Given the description of an element on the screen output the (x, y) to click on. 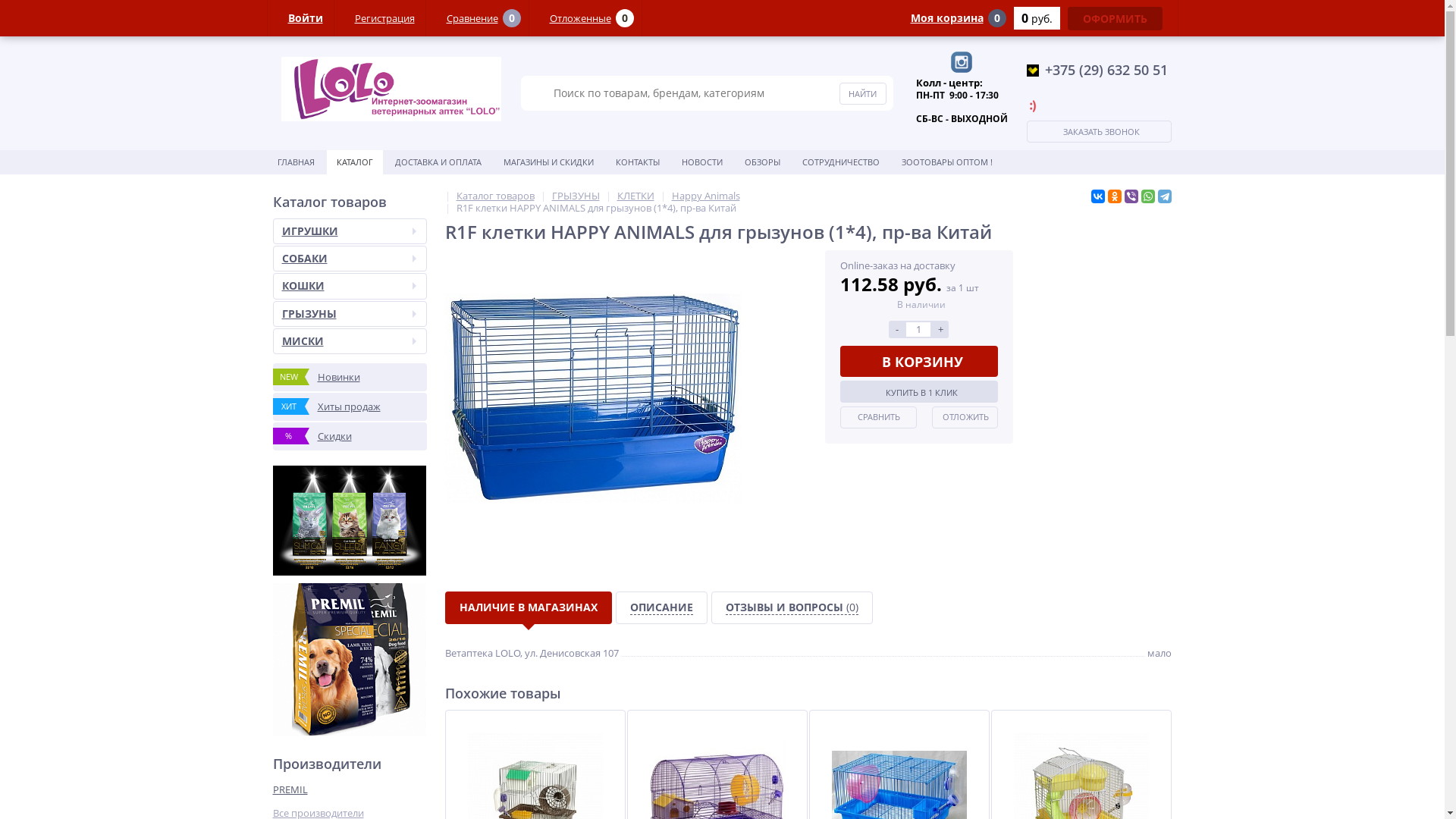
Viber Element type: hover (1130, 196)
Instagram Element type: hover (961, 62)
Happy Animals Element type: text (705, 195)
Telegram Element type: hover (1163, 196)
WhatsApp Element type: hover (1147, 196)
PREMIL Element type: text (311, 789)
- Element type: text (896, 329)
+ Element type: text (939, 329)
